Given the description of an element on the screen output the (x, y) to click on. 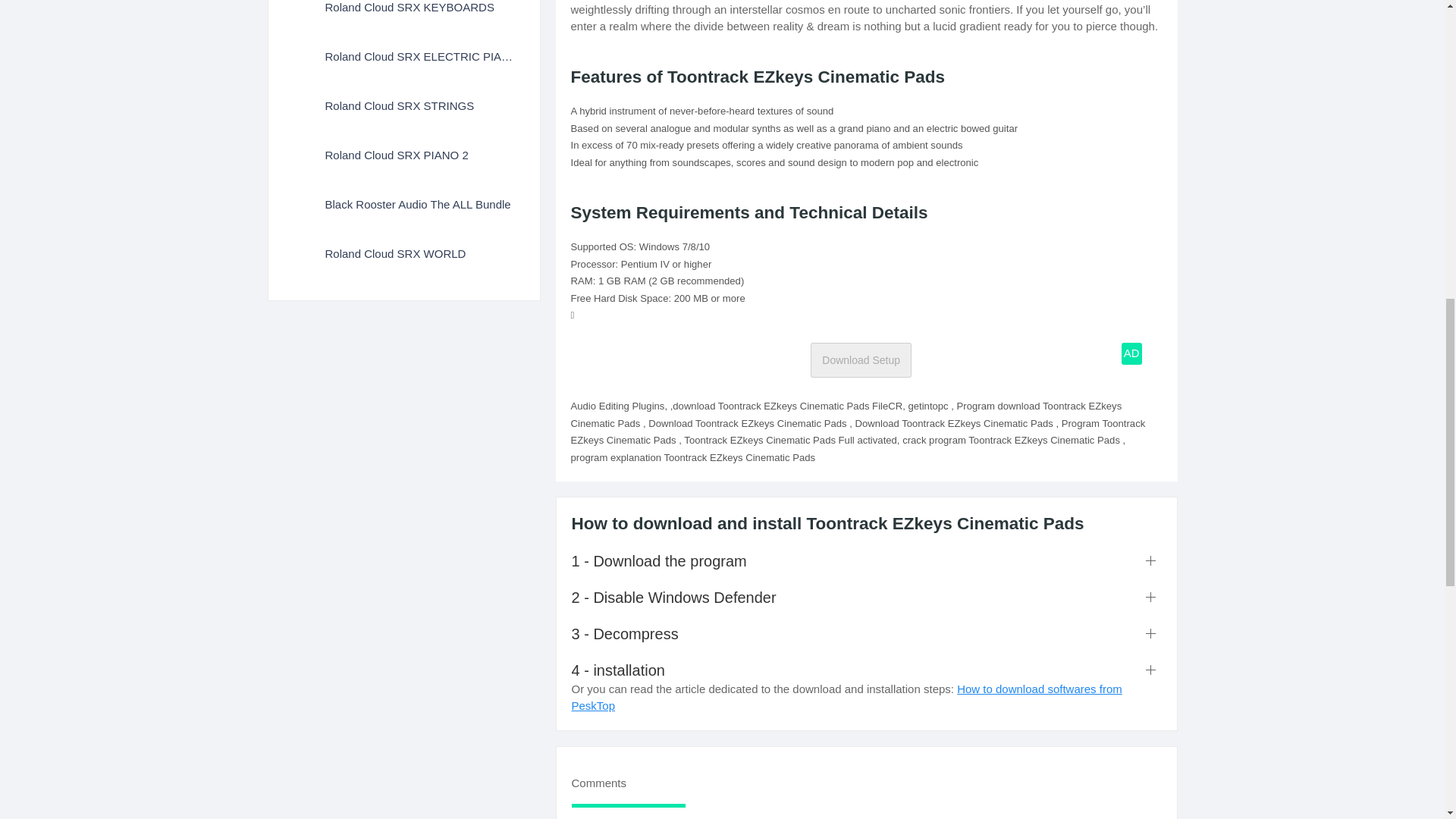
1 - Download the program (866, 560)
Download Setup (860, 360)
2 - Disable Windows Defender (866, 597)
3 - Decompress (866, 633)
Roland Cloud SRX KEYBOARDS (403, 15)
Download Setup (860, 359)
Roland Cloud SRX ELECTRIC PIANO (403, 55)
4 - installation (866, 670)
How to download softwares from PeskTop (847, 697)
